Given the description of an element on the screen output the (x, y) to click on. 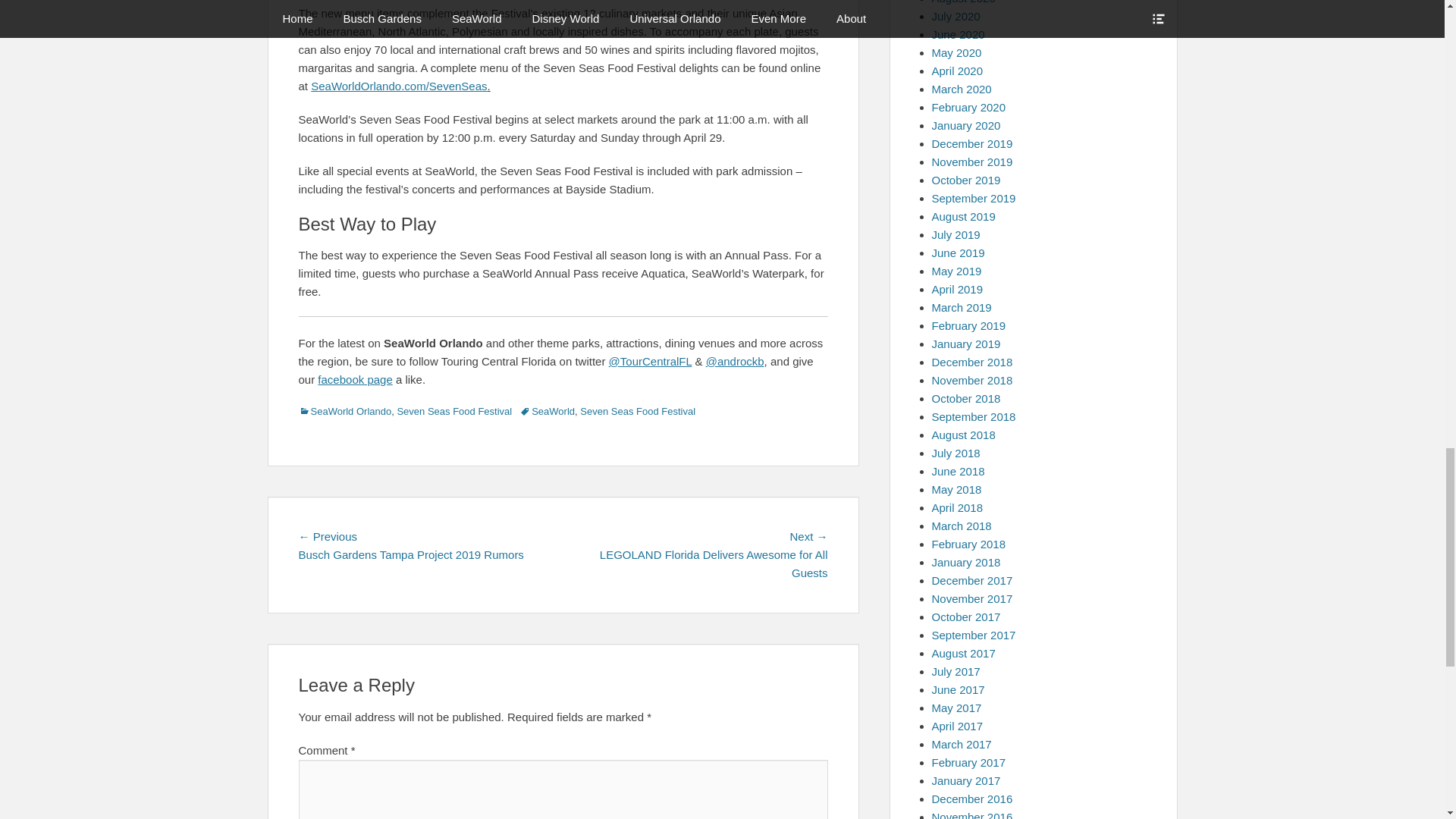
SeaWorld Orlando (344, 410)
facebook page (354, 379)
